Given the description of an element on the screen output the (x, y) to click on. 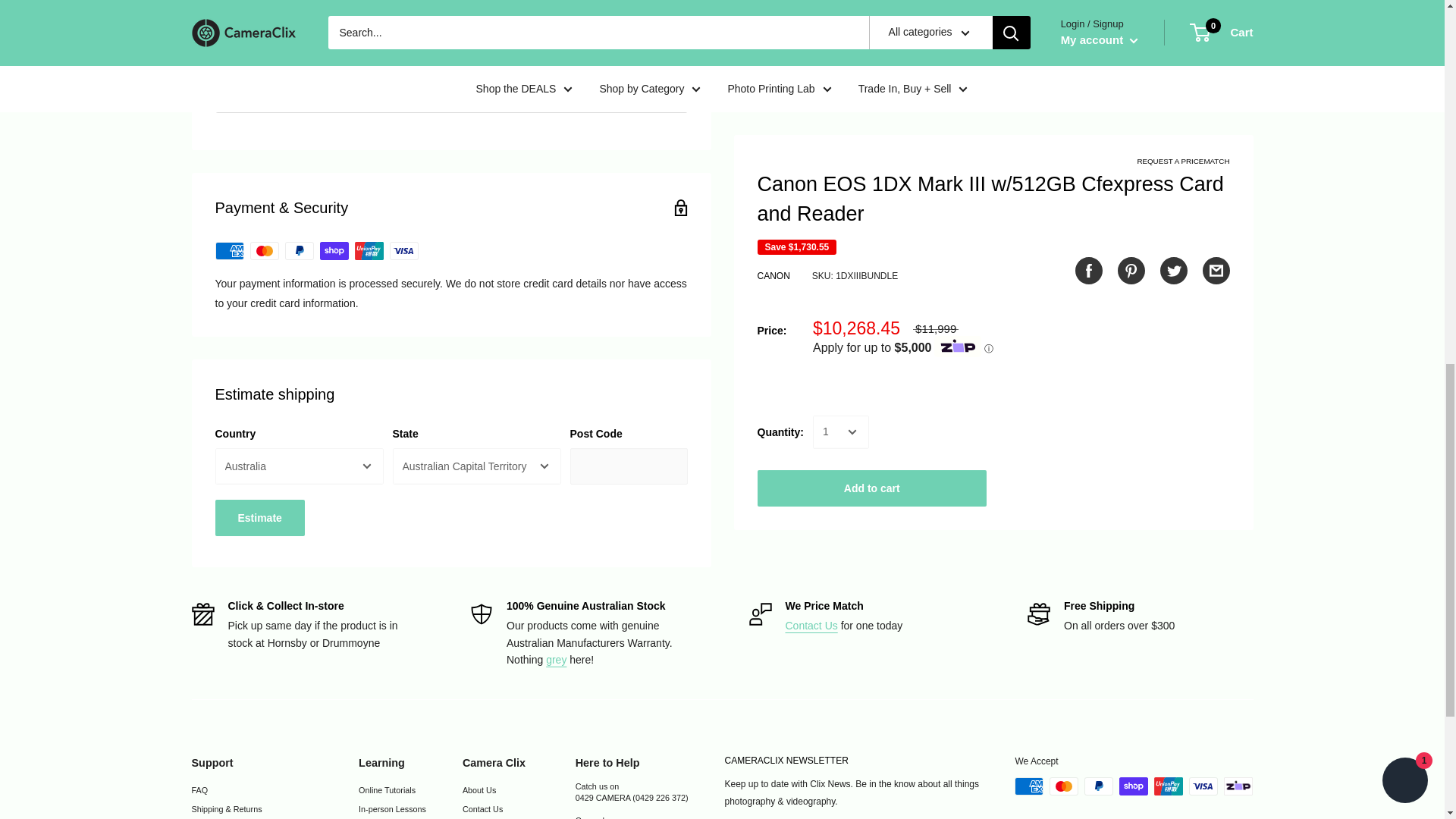
50 Shades of Grey (556, 659)
Contact Us (812, 625)
